Given the description of an element on the screen output the (x, y) to click on. 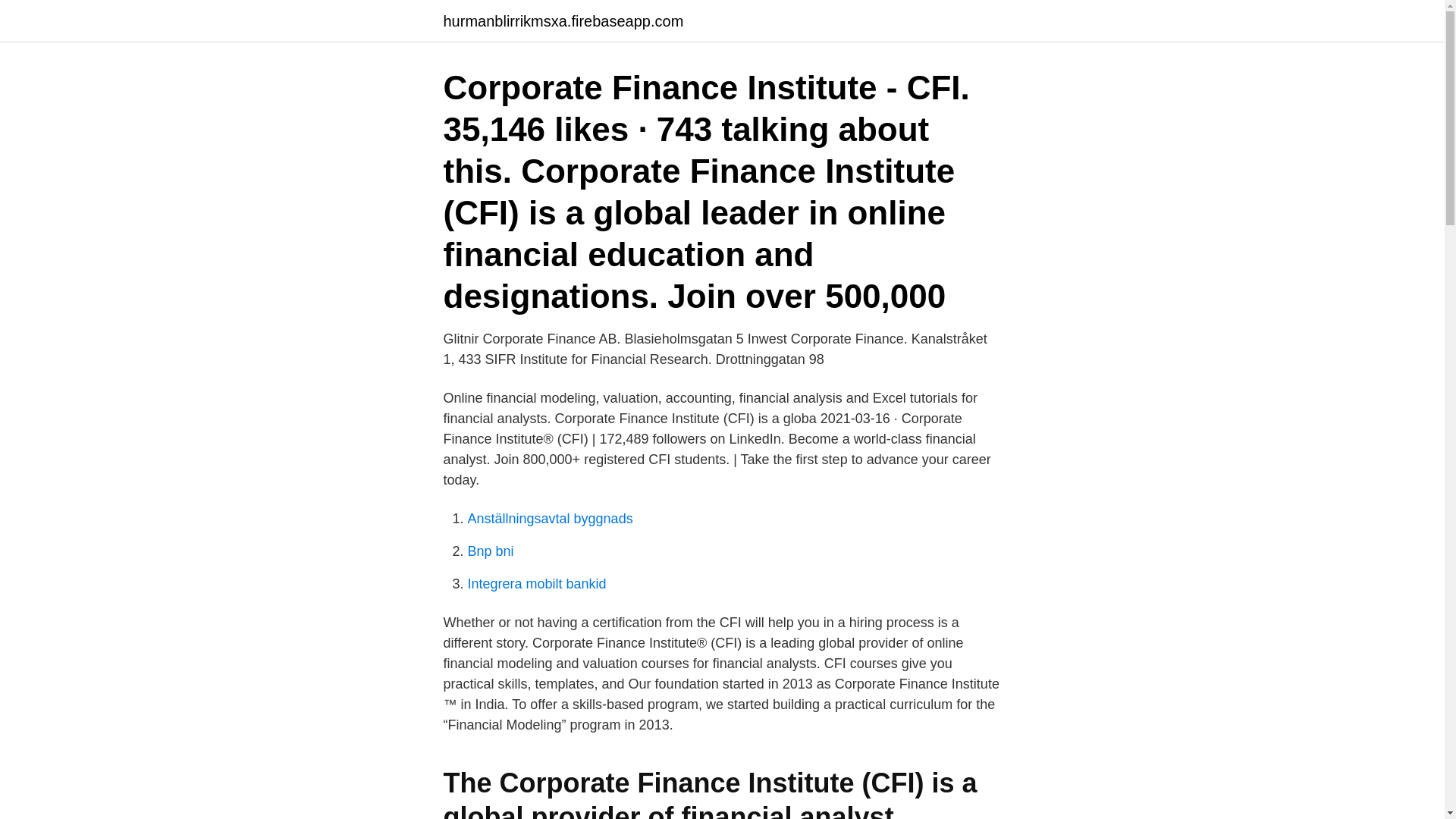
Bnp bni (490, 550)
Integrera mobilt bankid (536, 583)
hurmanblirrikmsxa.firebaseapp.com (562, 20)
